Given the description of an element on the screen output the (x, y) to click on. 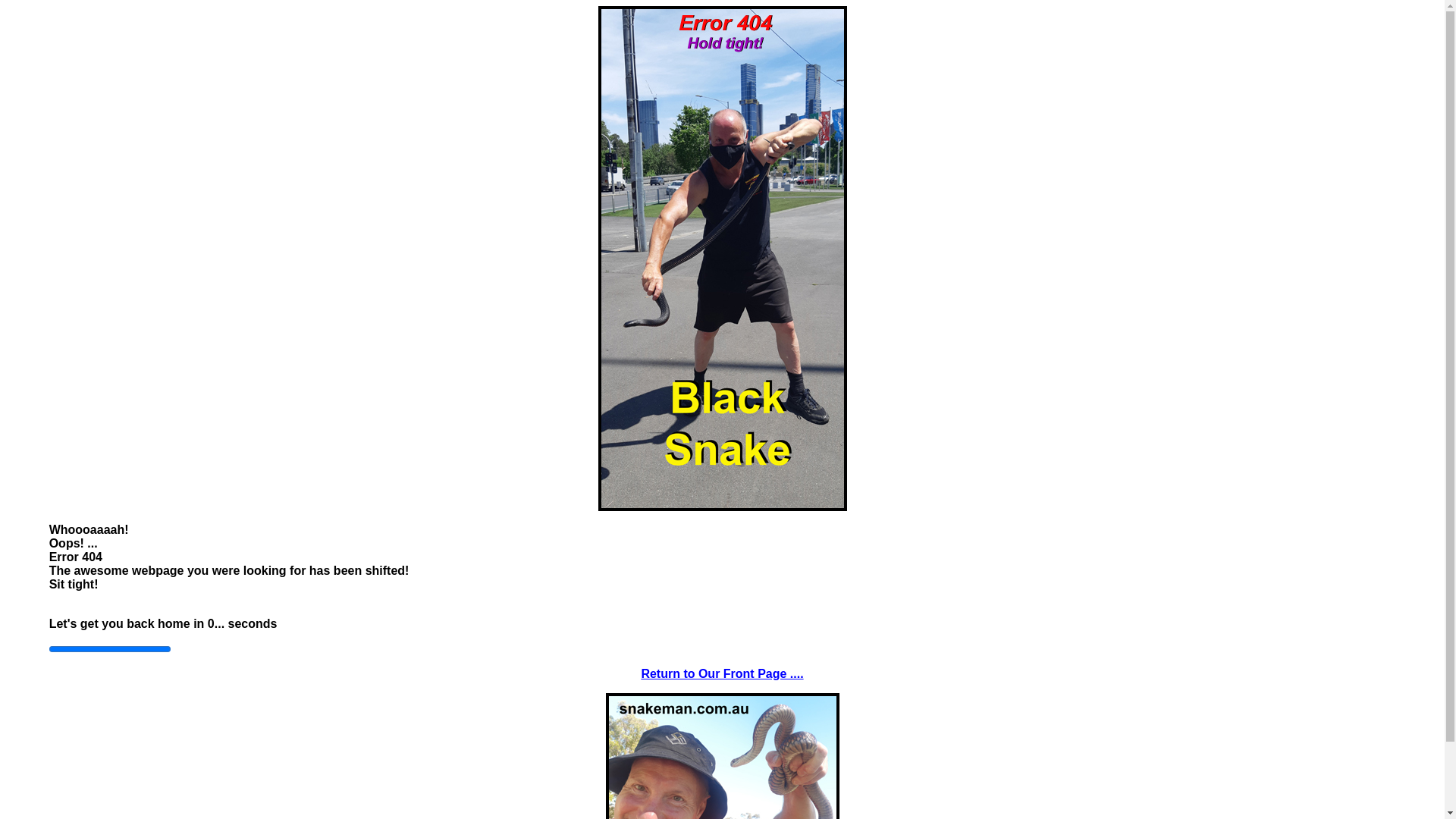
Return to Our Front Page .... Element type: text (721, 673)
snake-man-404 Element type: hover (721, 258)
